Given the description of an element on the screen output the (x, y) to click on. 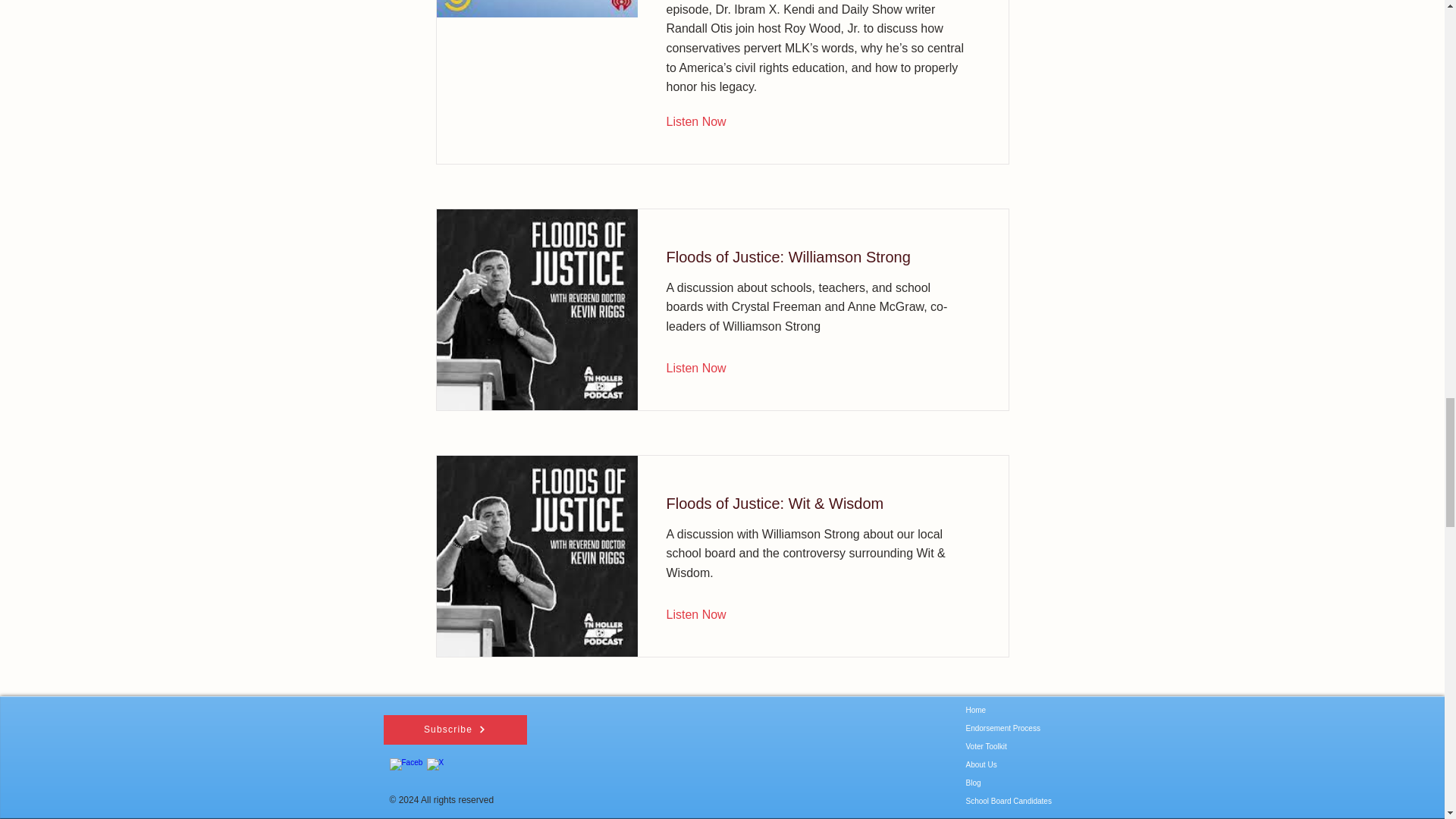
Listen Now (706, 121)
Listen Now (706, 614)
Listen Now (706, 368)
